Given the description of an element on the screen output the (x, y) to click on. 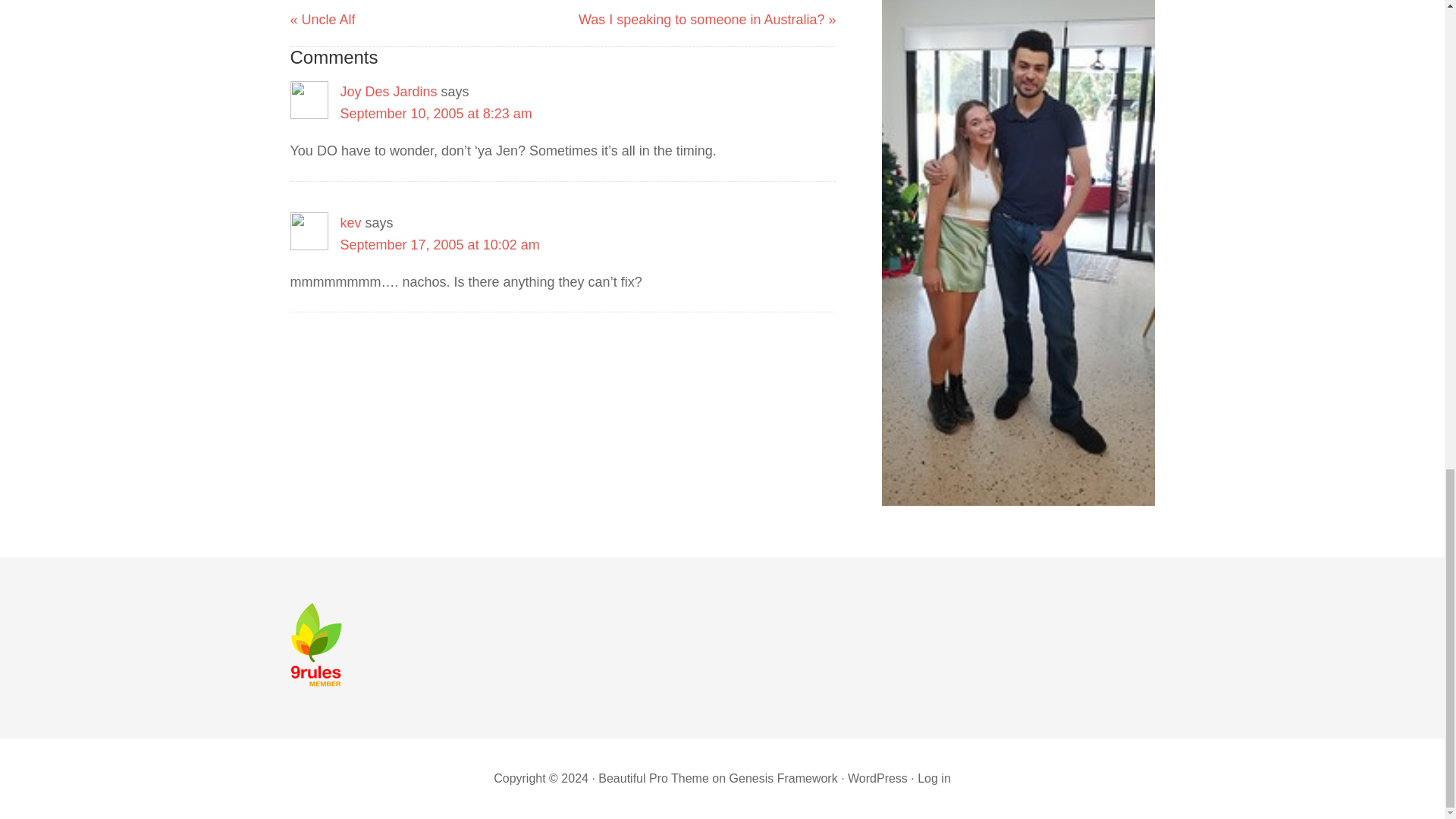
Joy Des Jardins (387, 91)
kev (350, 222)
September 10, 2005 at 8:23 am (435, 113)
September 17, 2005 at 10:02 am (438, 244)
